Given the description of an element on the screen output the (x, y) to click on. 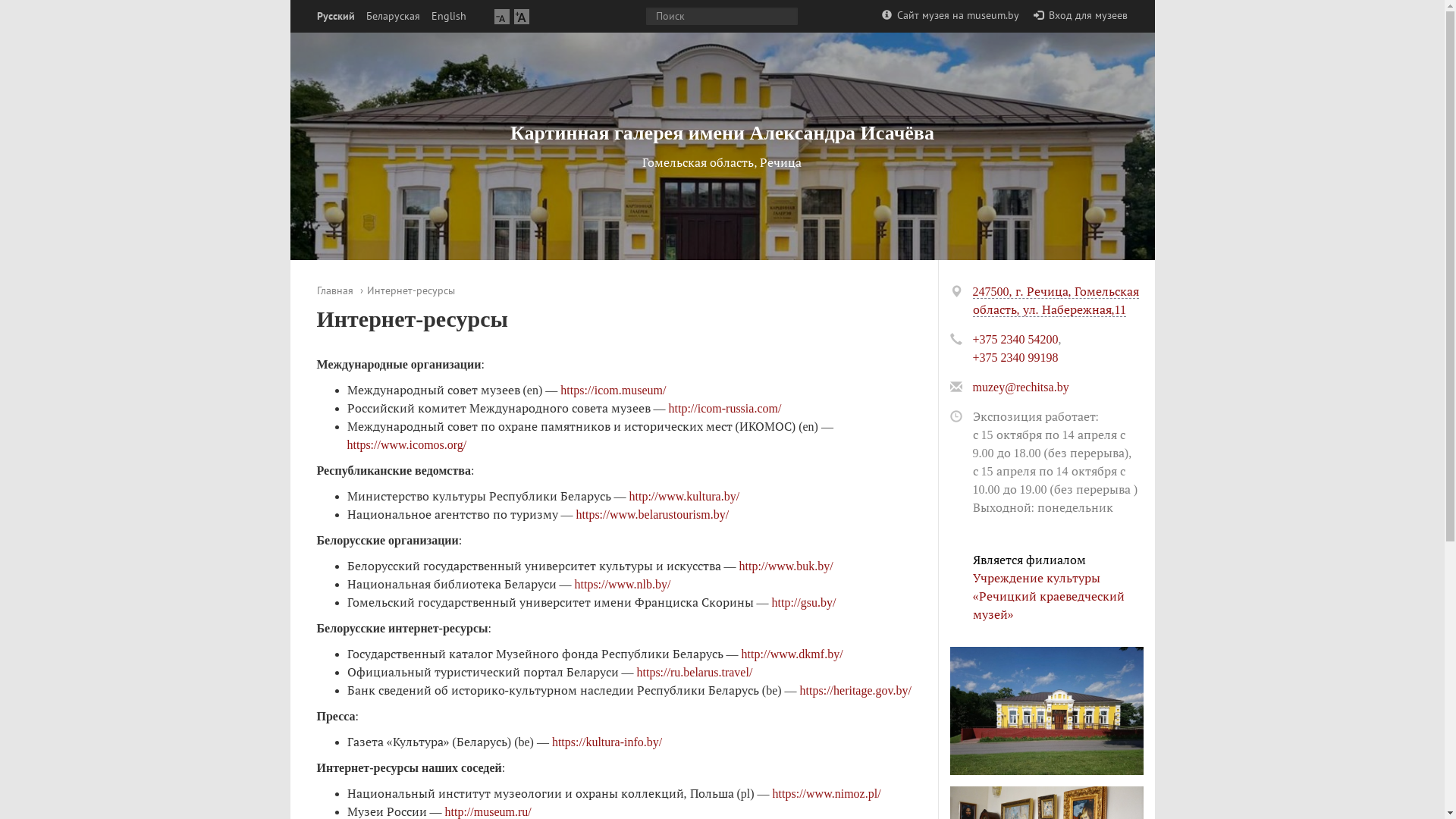
https://www.nlb.by/ Element type: text (622, 583)
https://icom.museum/ Element type: text (612, 389)
https://www.nimoz.pl/ Element type: text (826, 793)
A Element type: text (521, 16)
http://www.dkmf.by/ Element type: text (790, 653)
+375 2340 99198 Element type: text (1014, 357)
A Element type: text (501, 16)
http://www.kultura.by/ Element type: text (684, 495)
English Element type: text (447, 16)
http://icom-russia.com/ Element type: text (723, 407)
https://www.icomos.org/ Element type: text (407, 444)
https://ru.belarus.travel/ Element type: text (695, 671)
muzey@rechitsa.by Element type: text (1020, 386)
https://www.belarustourism.by/ Element type: text (652, 514)
https://kultura-info.by/ Element type: text (607, 741)
http://museum.ru/ Element type: text (487, 811)
+375 2340 54200 Element type: text (1014, 339)
http://www.buk.by/ Element type: text (785, 565)
https://heritage.gov.by/ Element type: text (855, 690)
http://gsu.by/ Element type: text (803, 602)
